Given the description of an element on the screen output the (x, y) to click on. 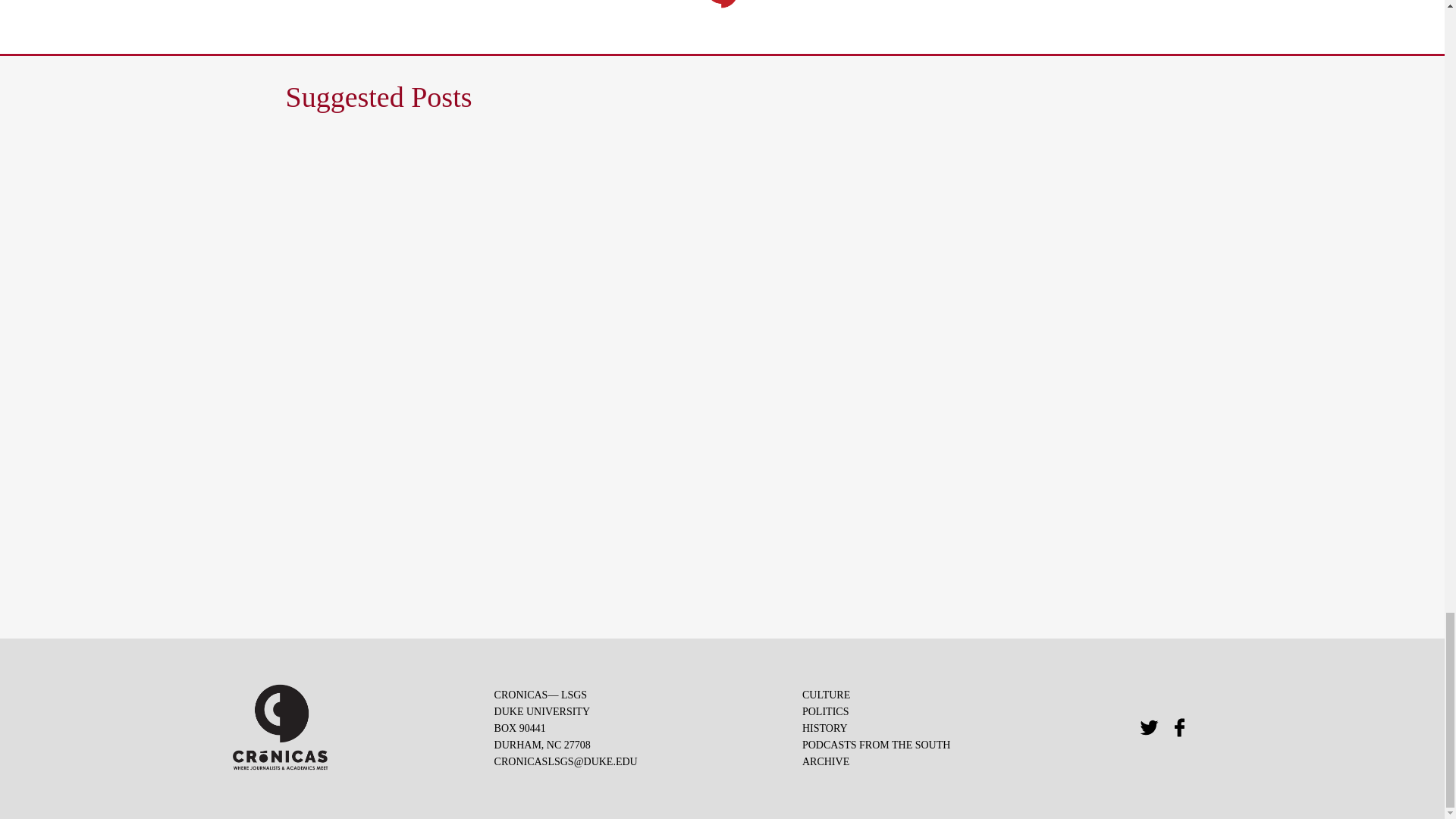
twitter (1149, 727)
facebook (1179, 727)
